Given the description of an element on the screen output the (x, y) to click on. 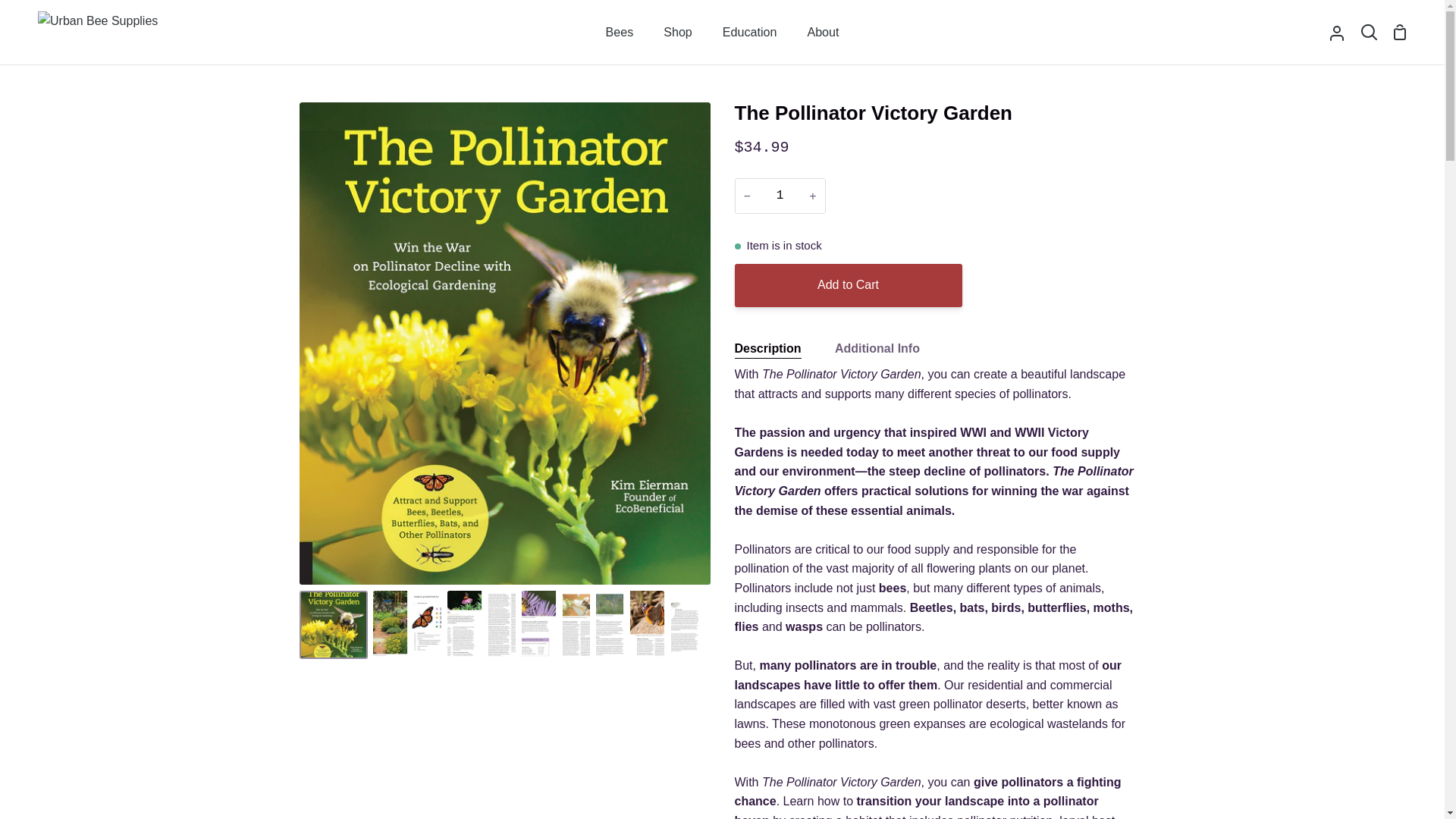
Education (749, 32)
About (822, 32)
Bees (620, 32)
Shop (677, 32)
1 (779, 195)
